Given the description of an element on the screen output the (x, y) to click on. 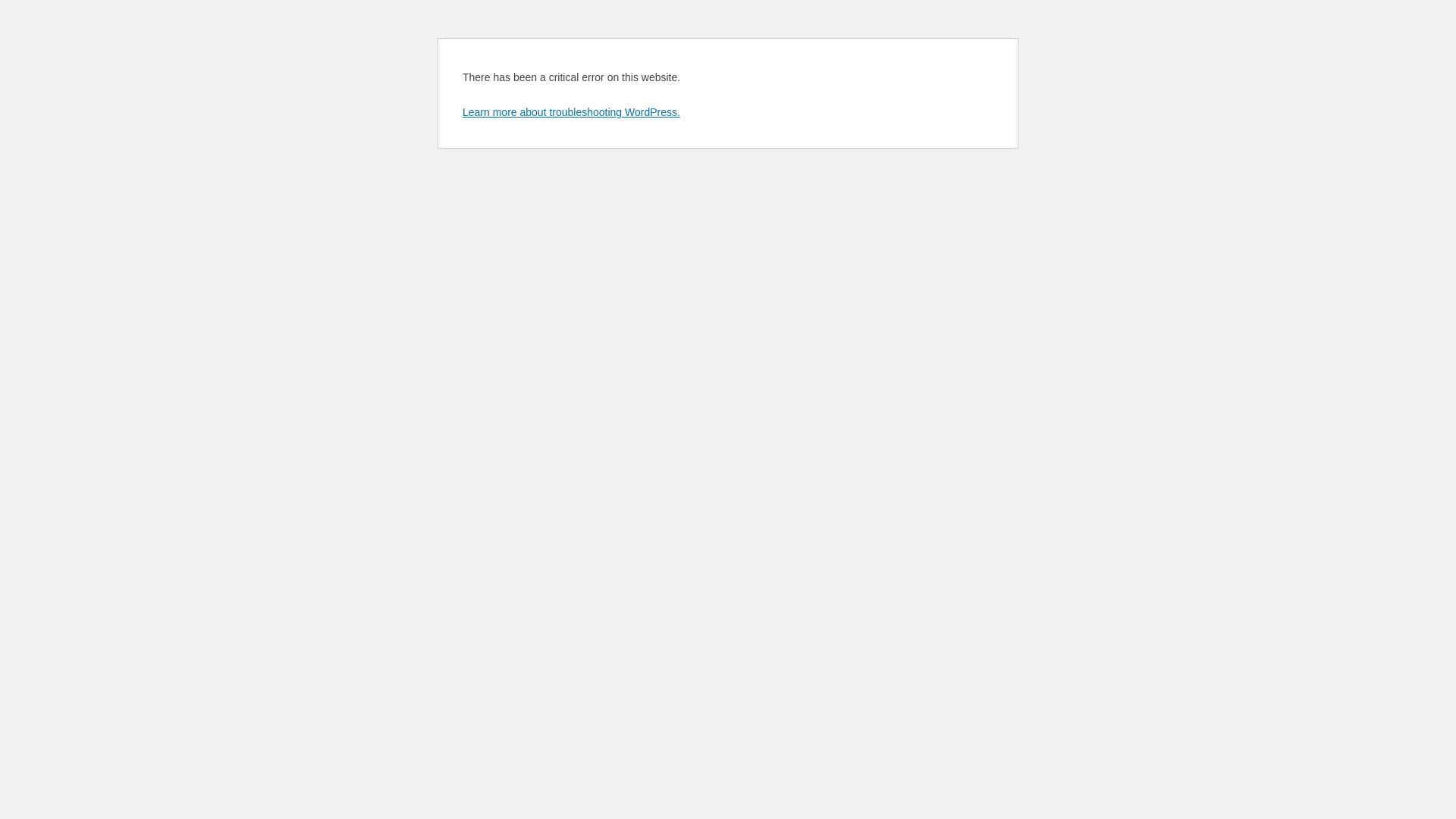
Learn more about troubleshooting WordPress. Element type: text (571, 112)
